Given the description of an element on the screen output the (x, y) to click on. 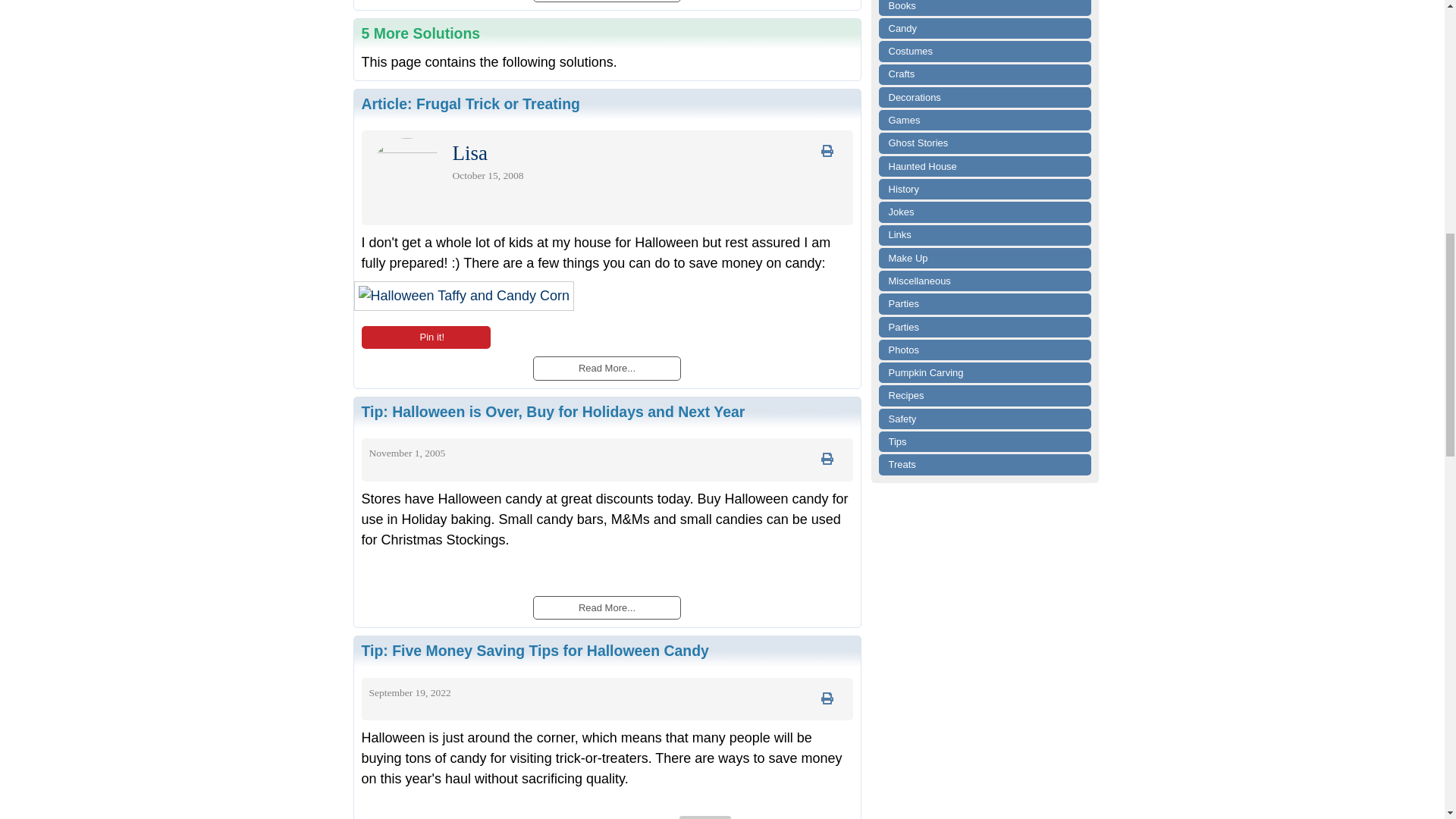
 Pin it! (425, 336)
Tip: Five Money Saving Tips for Halloween Candy (534, 650)
Article: Frugal Trick or Treating (470, 103)
Read More... (605, 367)
Read More... (605, 606)
Tip: Halloween is Over, Buy for Holidays and Next Year (552, 411)
Lisa (469, 156)
